Given the description of an element on the screen output the (x, y) to click on. 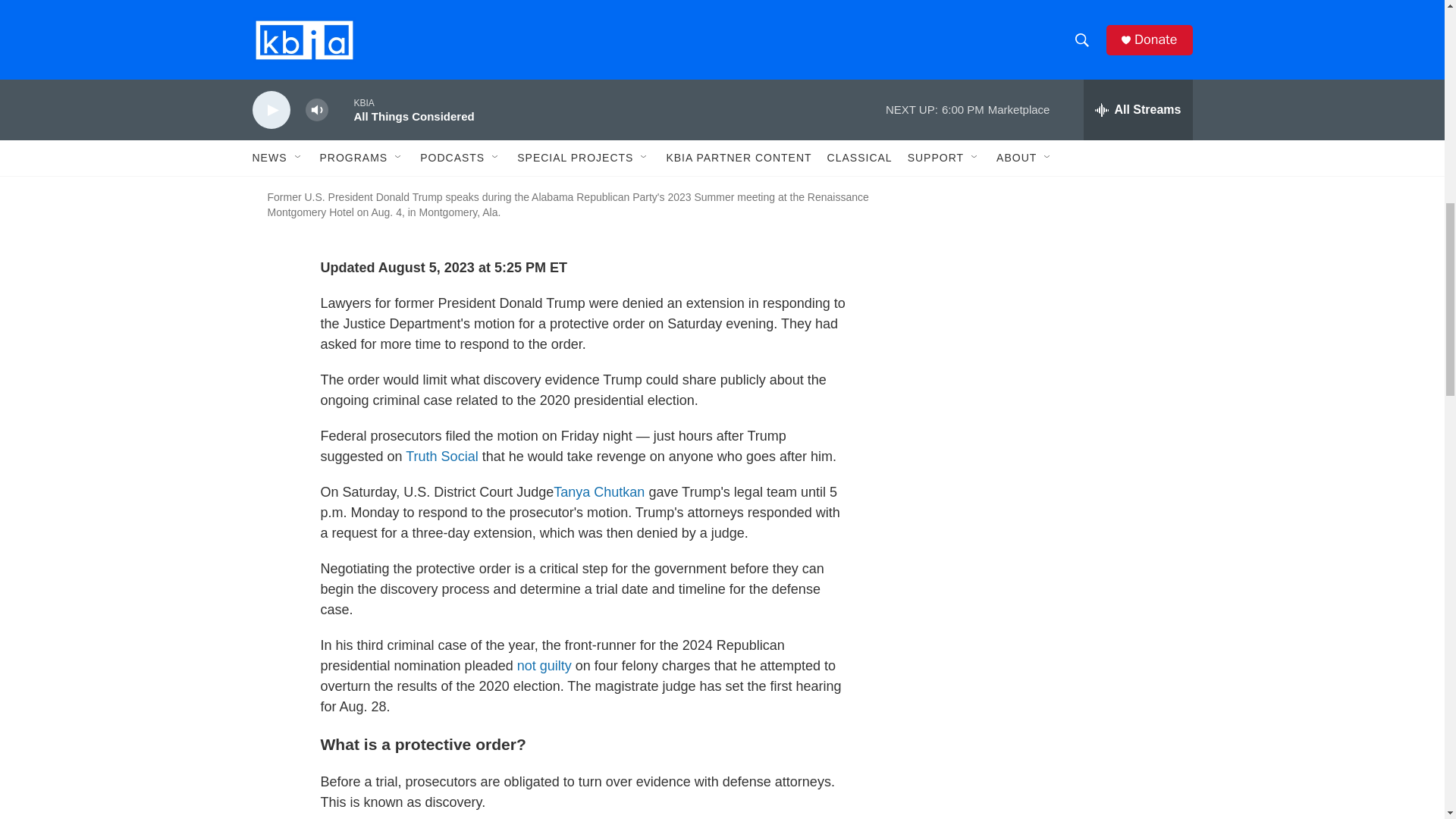
3rd party ad content (1062, 16)
